Given the description of an element on the screen output the (x, y) to click on. 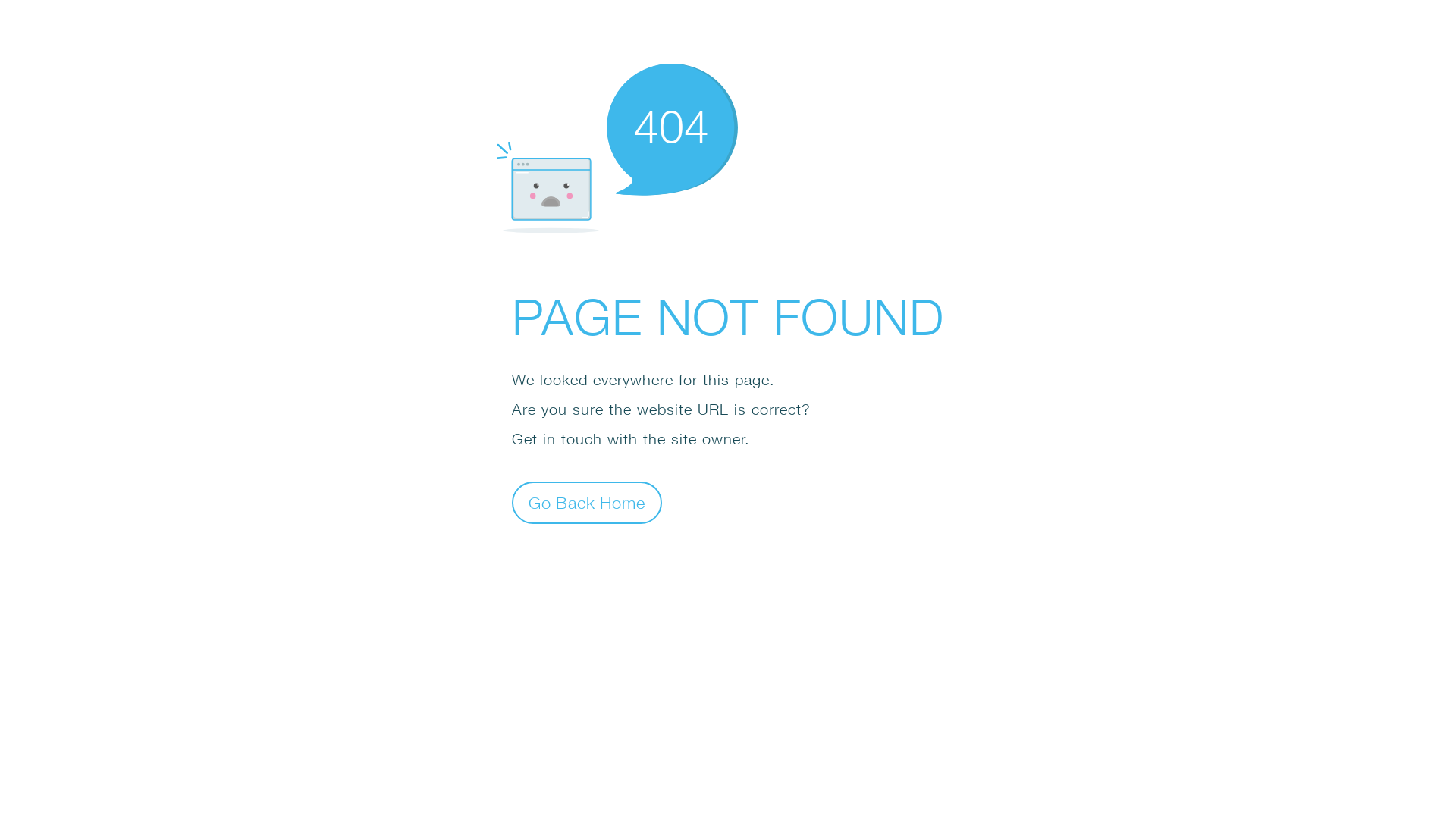
Go Back Home Element type: text (586, 502)
